Given the description of an element on the screen output the (x, y) to click on. 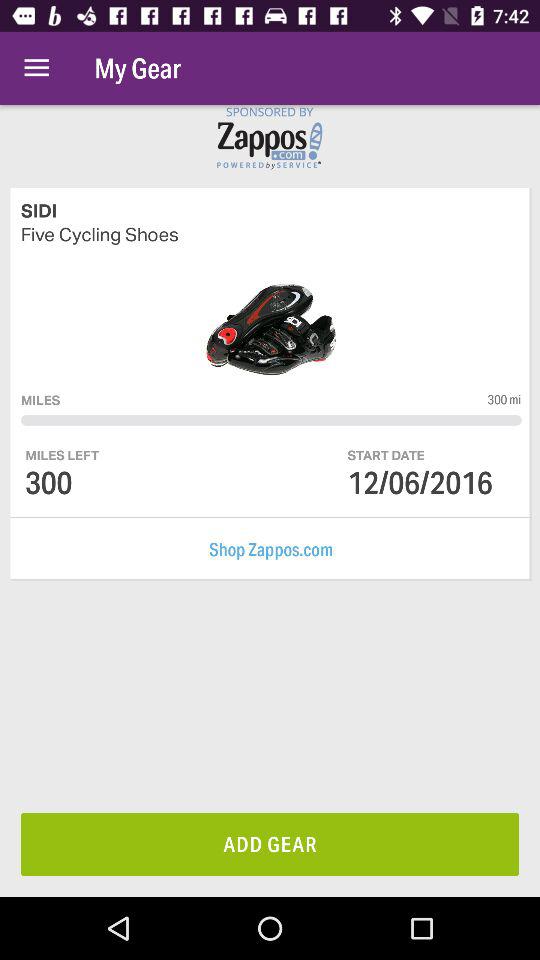
launch icon to the left of the my gear item (36, 68)
